Given the description of an element on the screen output the (x, y) to click on. 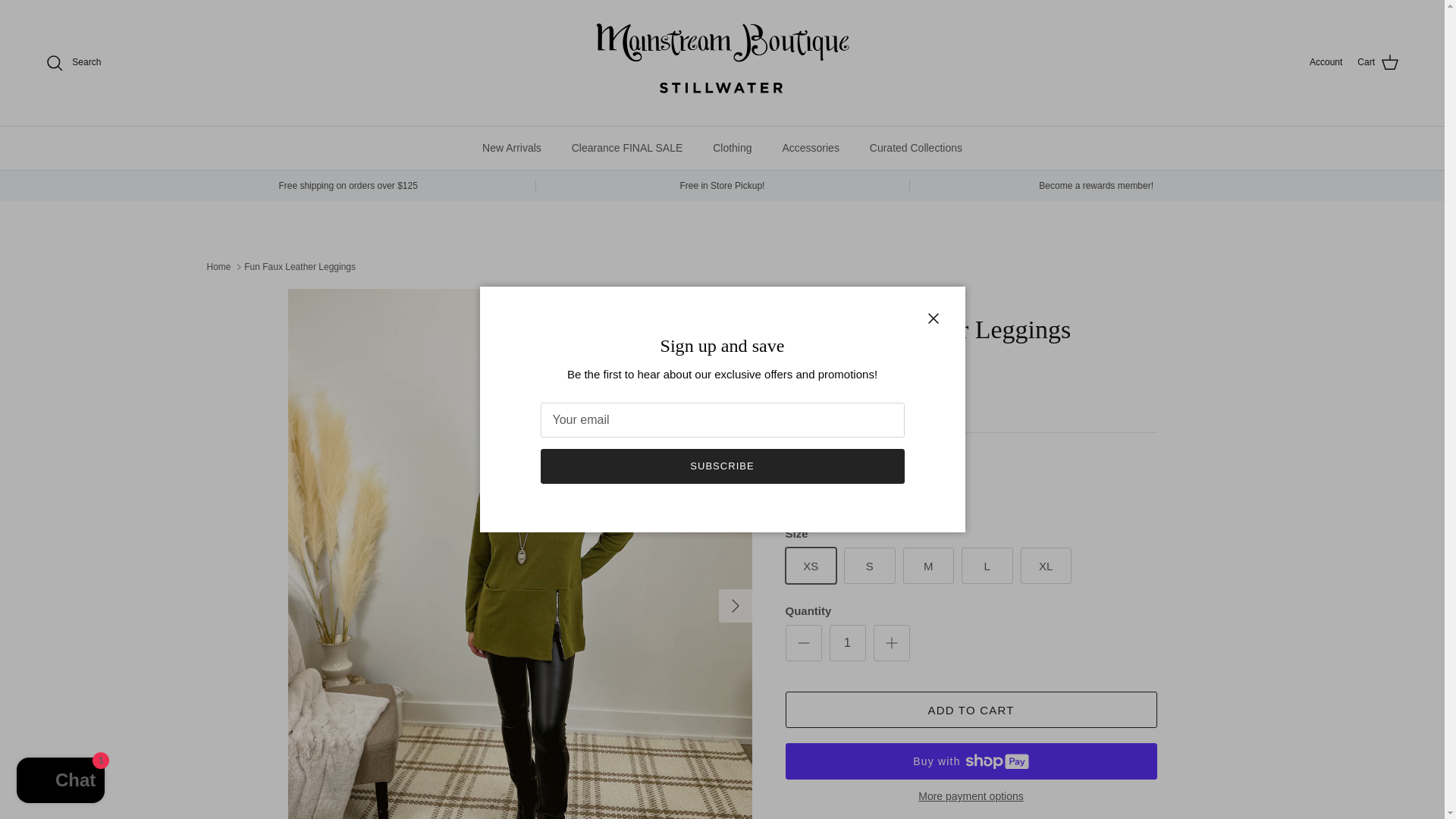
Cart (1377, 62)
Search (72, 63)
Clothing (731, 147)
New Arrivals (511, 147)
Shopify online store chat (60, 781)
1 (847, 642)
Clearance FINAL SALE (627, 147)
Accessories (809, 147)
Curated Collections (915, 147)
MB Stillwater (722, 62)
Account (1325, 62)
